Given the description of an element on the screen output the (x, y) to click on. 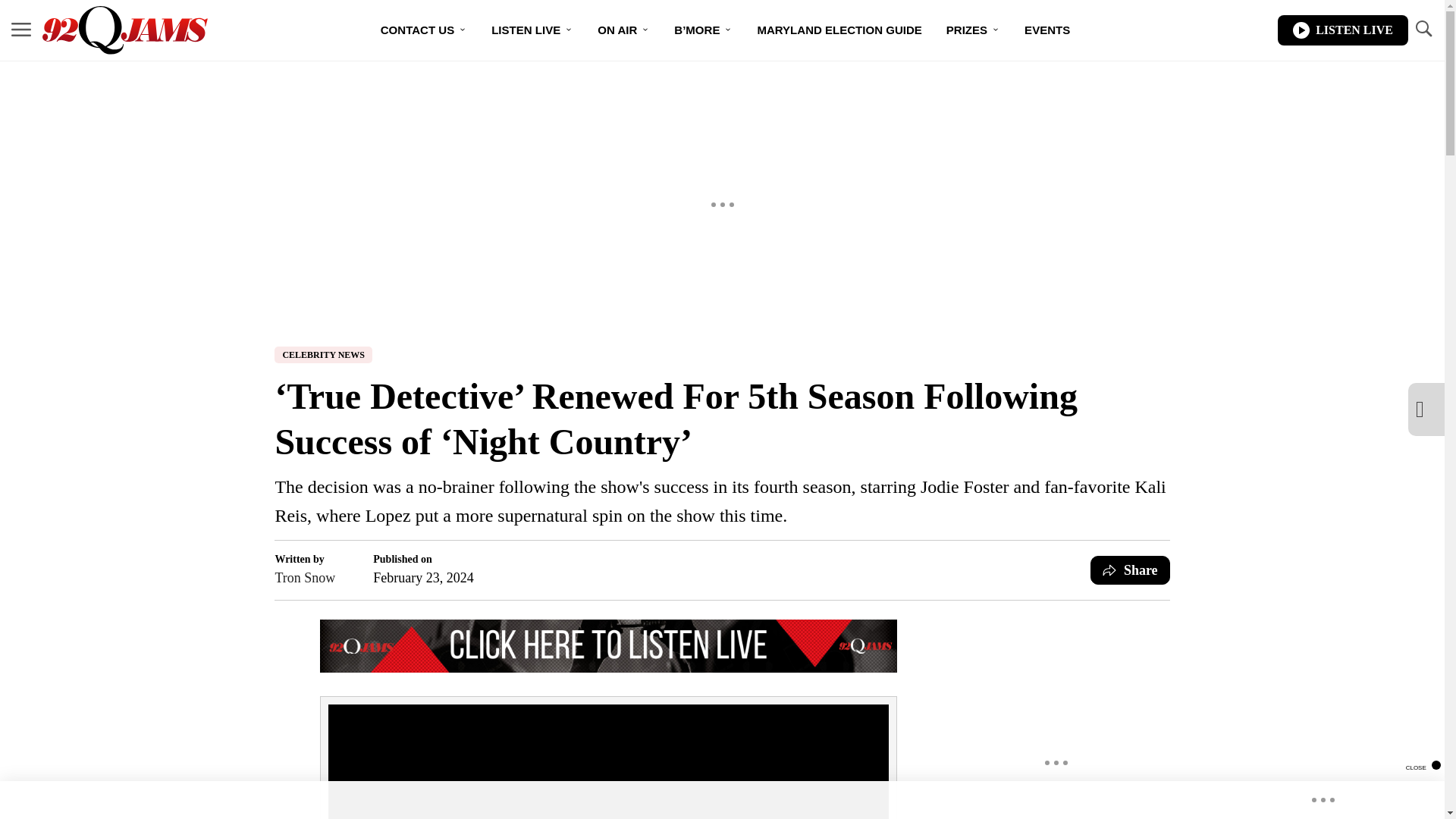
LISTEN LIVE (532, 30)
MENU (20, 29)
CELEBRITY NEWS (323, 354)
TOGGLE SEARCH (1422, 28)
MARYLAND ELECTION GUIDE (838, 30)
EVENTS (1046, 30)
CONTACT US (423, 30)
PRIZES (972, 30)
Tron Snow (304, 577)
MENU (20, 30)
